Given the description of an element on the screen output the (x, y) to click on. 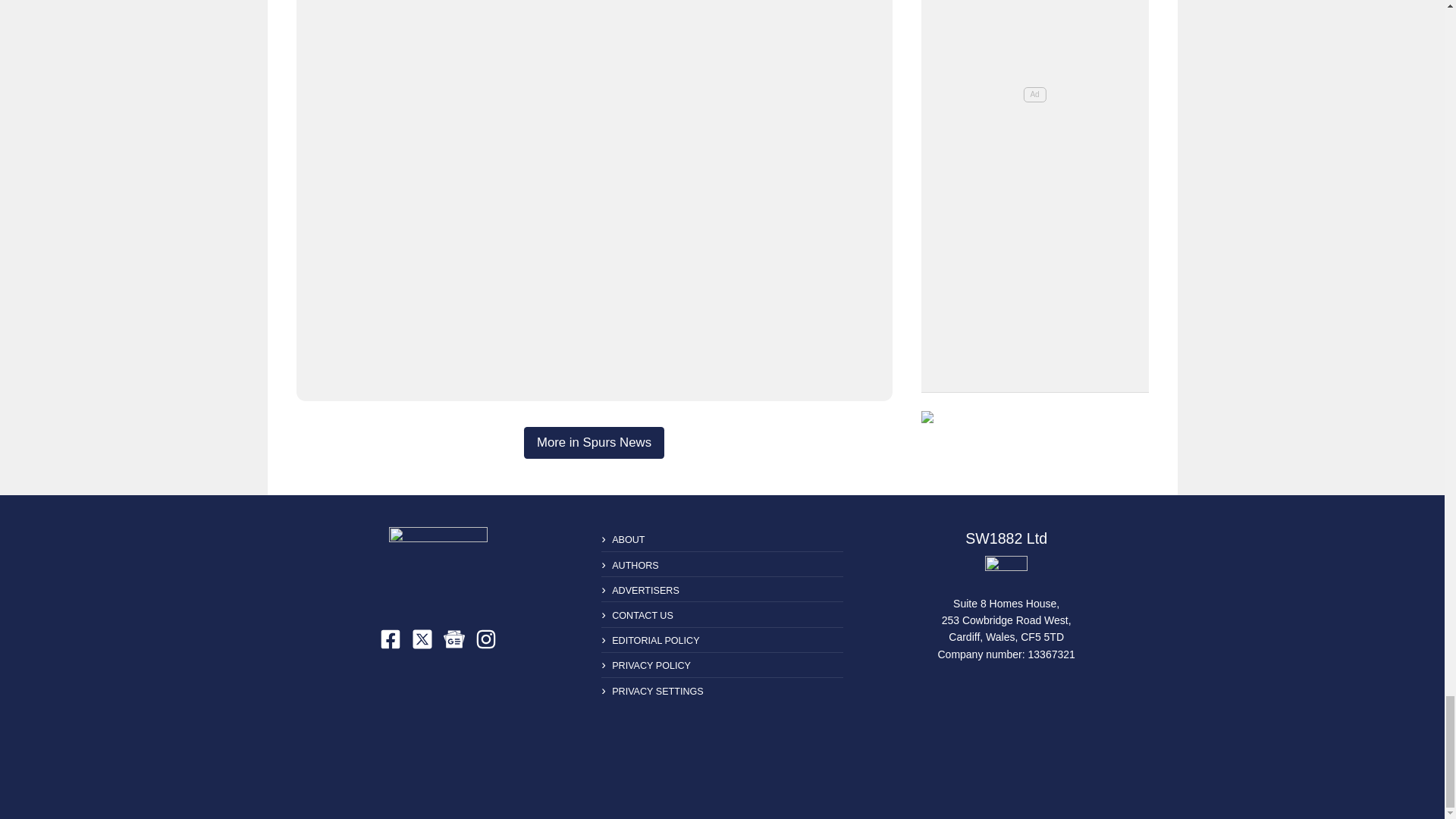
The Spurs Web - Tottenham Hotspur Football News on Facebook (390, 639)
The Spurs Web - Tottenham Hotspur Football News (438, 566)
The Spurs Web - Tottenham Hotspur Football News on X (422, 639)
More in Spurs News (593, 442)
Spurs Web (1005, 572)
The Spurs Web - Tottenham Hotspur Football News on Instagram (486, 639)
